Given the description of an element on the screen output the (x, y) to click on. 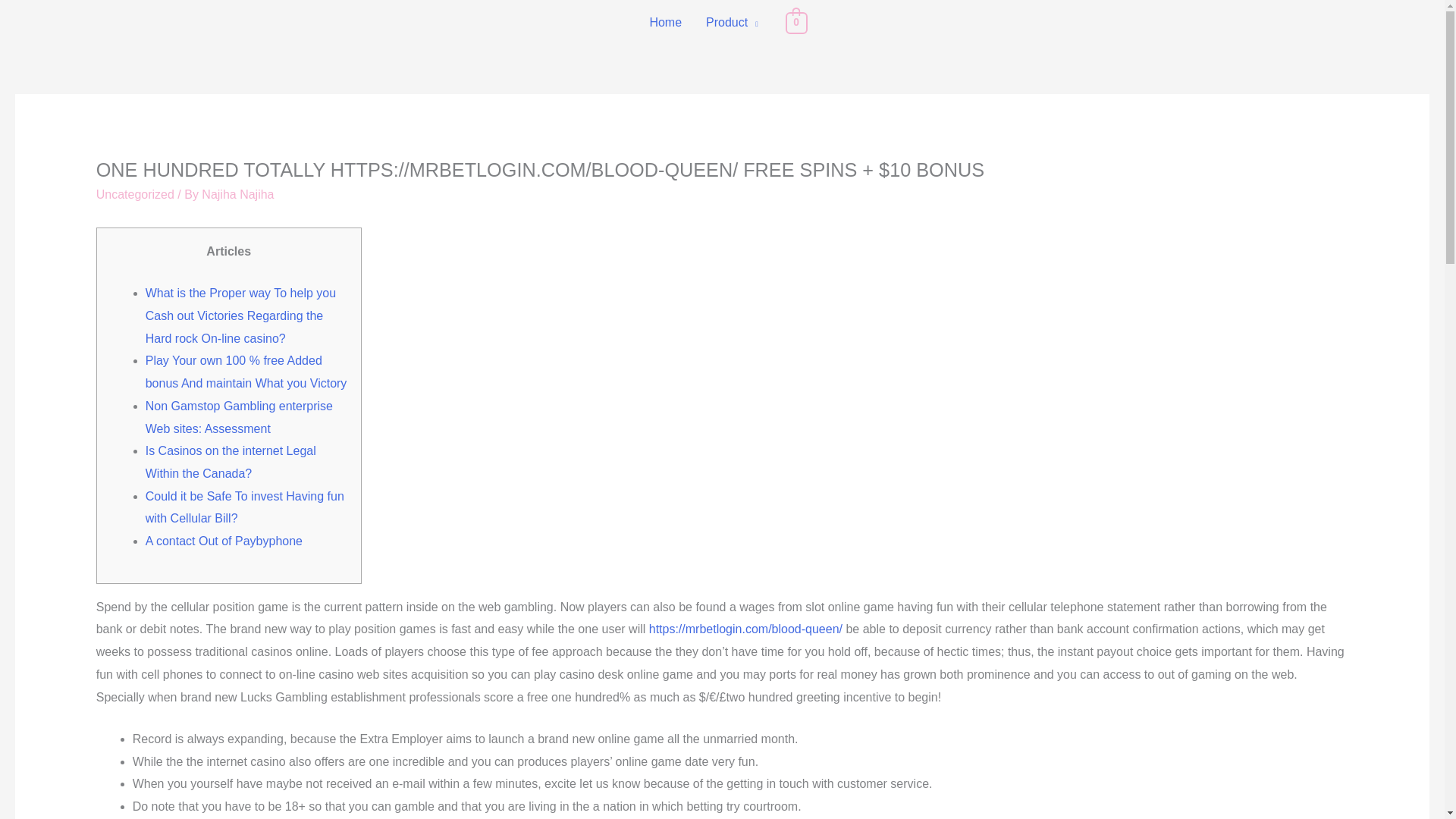
Non Gamstop Gambling enterprise Web sites: Assessment (239, 416)
Product (732, 22)
A contact Out of Paybyphone (223, 540)
Najiha Najiha (237, 194)
Uncategorized (135, 194)
0 (797, 21)
View your shopping cart (797, 21)
Could it be Safe To invest Having fun with Cellular Bill? (244, 507)
View all posts by Najiha Najiha (237, 194)
Home (665, 22)
Is Casinos on the internet Legal Within the Canada? (230, 461)
